Given the description of an element on the screen output the (x, y) to click on. 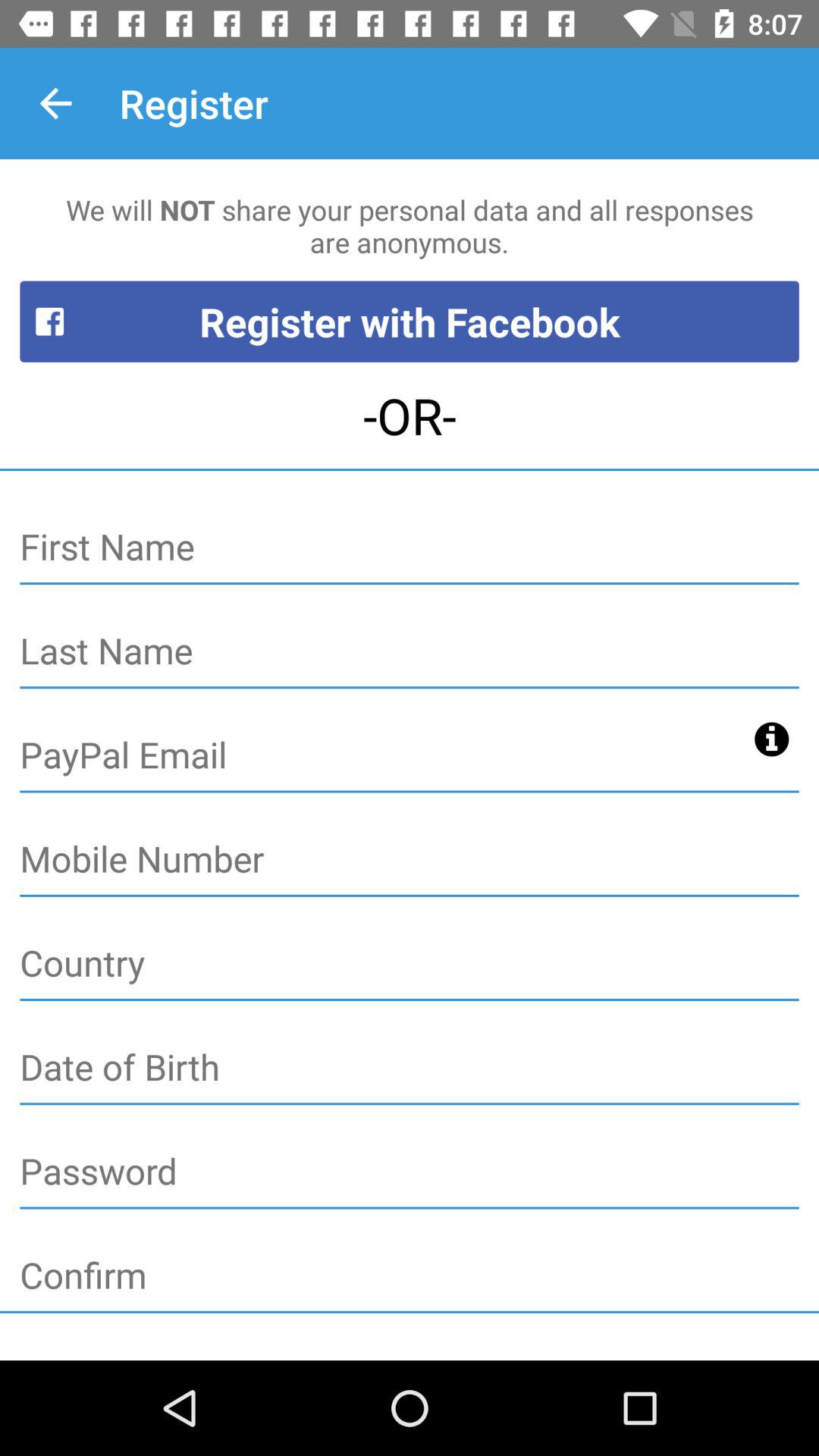
enter paypal email (381, 755)
